Given the description of an element on the screen output the (x, y) to click on. 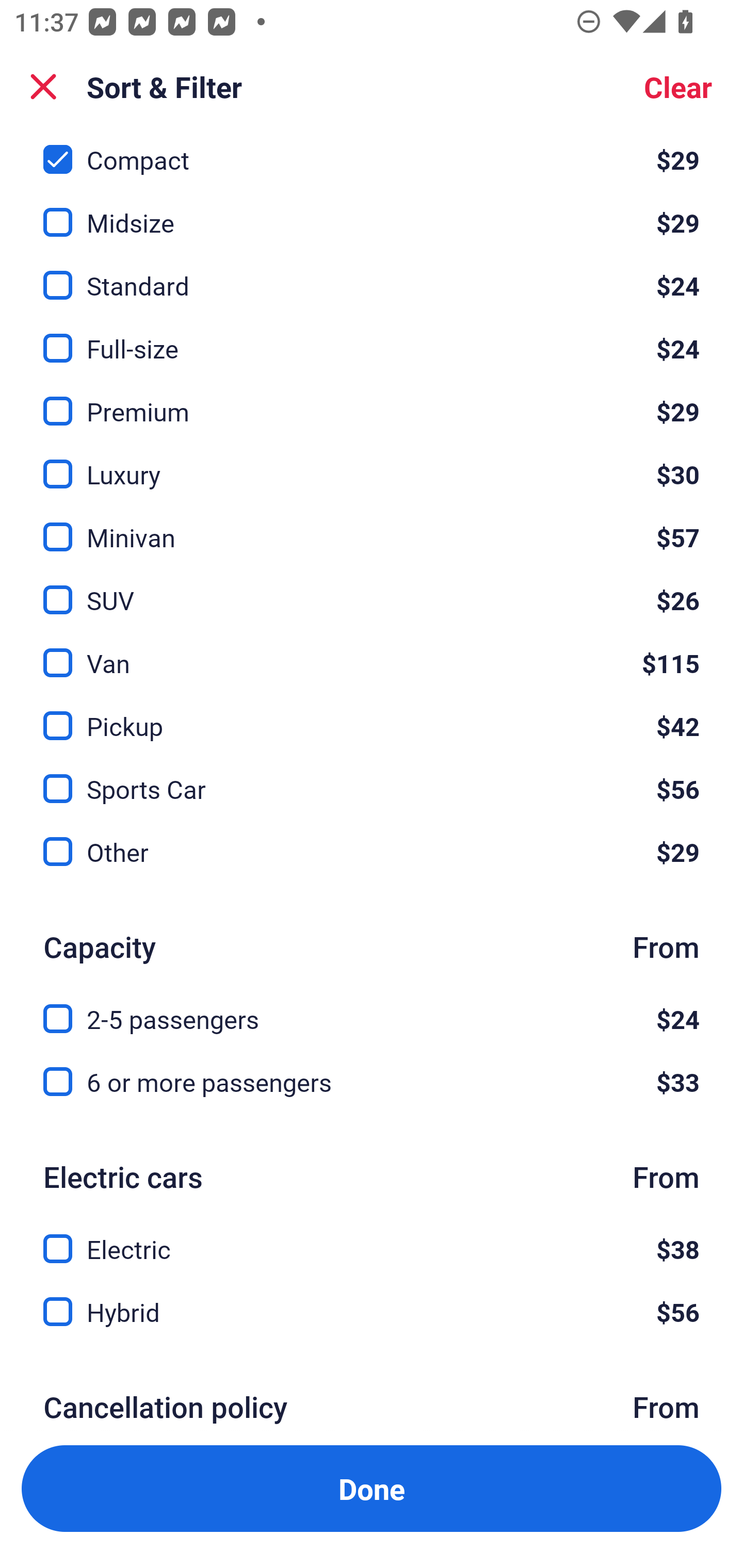
Close Sort and Filter (43, 86)
Clear (677, 86)
Compact, $29 Compact $29 (371, 154)
Midsize, $29 Midsize $29 (371, 210)
Standard, $24 Standard $24 (371, 274)
Full-size, $24 Full-size $24 (371, 336)
Premium, $29 Premium $29 (371, 399)
Luxury, $30 Luxury $30 (371, 462)
Minivan, $57 Minivan $57 (371, 524)
SUV, $26 SUV $26 (371, 587)
Van, $115 Van $115 (371, 651)
Pickup, $42 Pickup $42 (371, 714)
Sports Car, $56 Sports Car $56 (371, 777)
Other, $29 Other $29 (371, 852)
2-5 passengers, $24 2-5 passengers $24 (371, 1006)
6 or more passengers, $33 6 or more passengers $33 (371, 1081)
Electric, $38 Electric $38 (371, 1236)
Hybrid, $56 Hybrid $56 (371, 1311)
Apply and close Sort and Filter Done (371, 1488)
